Given the description of an element on the screen output the (x, y) to click on. 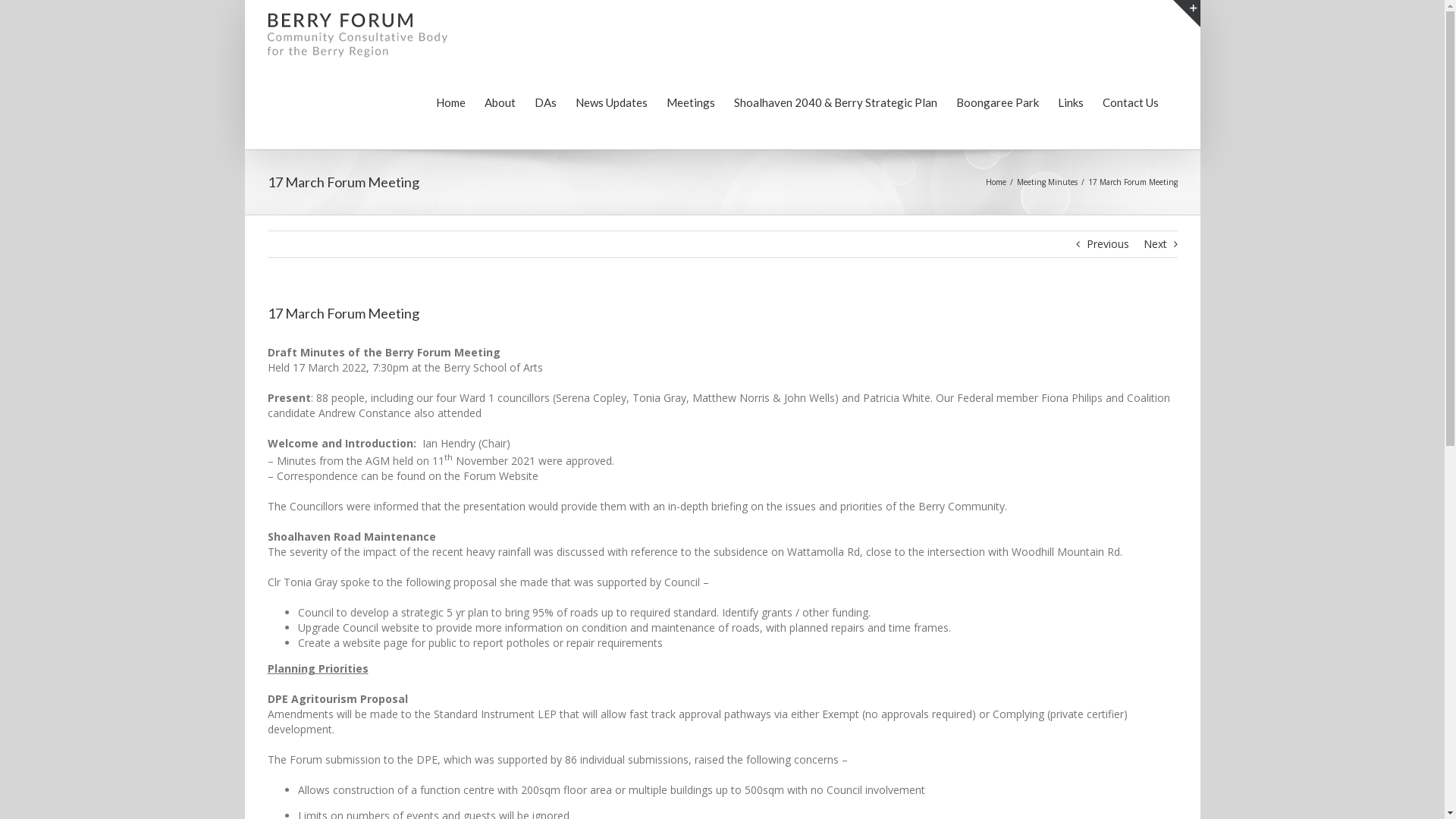
News Updates Element type: text (610, 101)
DAs Element type: text (544, 101)
Contact Us Element type: text (1130, 101)
Next Element type: text (1155, 244)
Previous Element type: text (1106, 244)
Home Element type: text (449, 101)
Meeting Minutes Element type: text (1046, 181)
Links Element type: text (1069, 101)
Toggle Sliding Bar Area Element type: text (1185, 13)
Shoalhaven 2040 & Berry Strategic Plan Element type: text (835, 101)
Meetings Element type: text (689, 101)
Boongaree Park Element type: text (996, 101)
Home Element type: text (995, 181)
About Element type: text (498, 101)
